Given the description of an element on the screen output the (x, y) to click on. 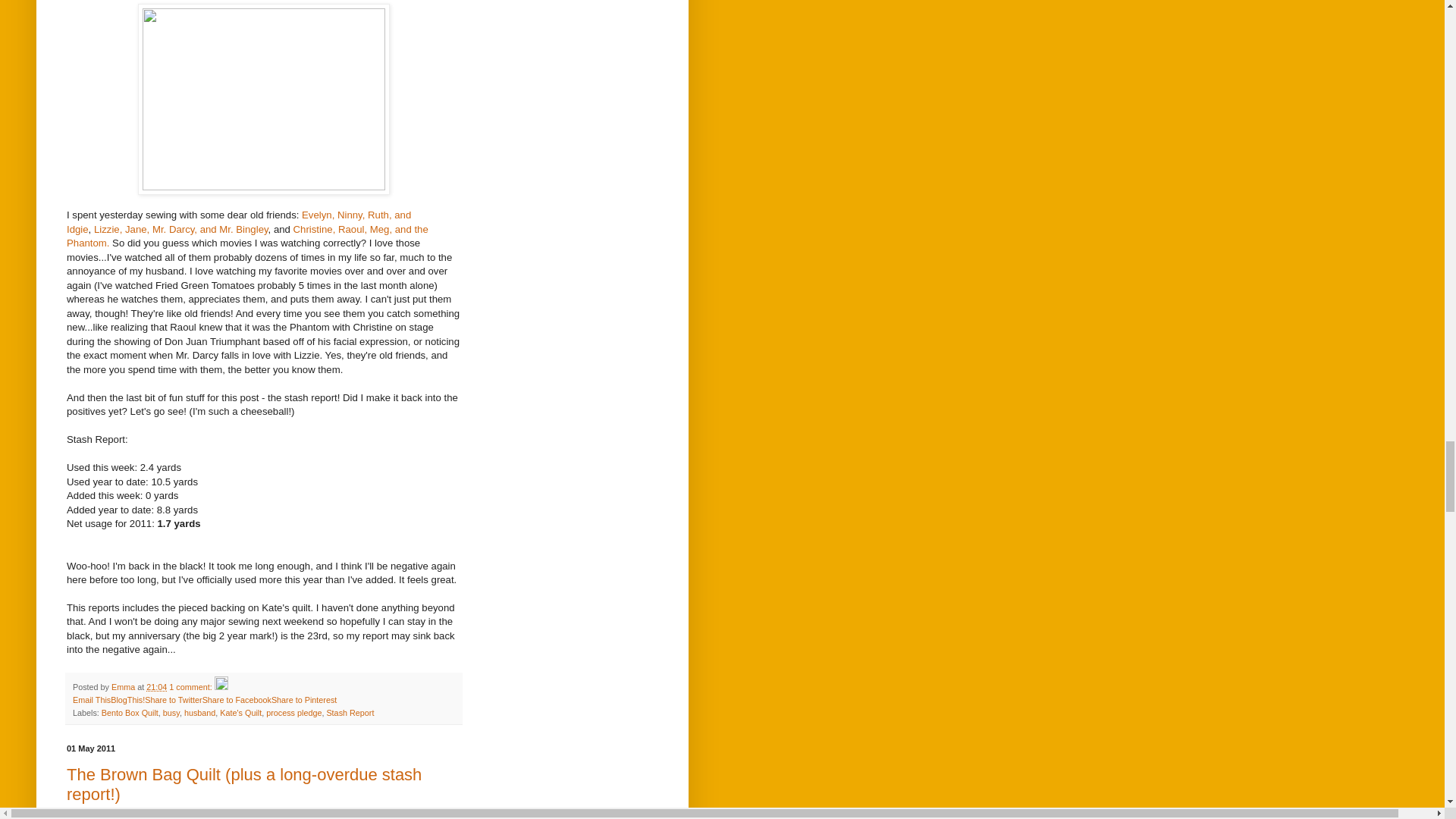
permanent link (157, 686)
author profile (124, 686)
BlogThis! (127, 699)
Edit Post (221, 686)
Share to Twitter (173, 699)
Email This (91, 699)
